Given the description of an element on the screen output the (x, y) to click on. 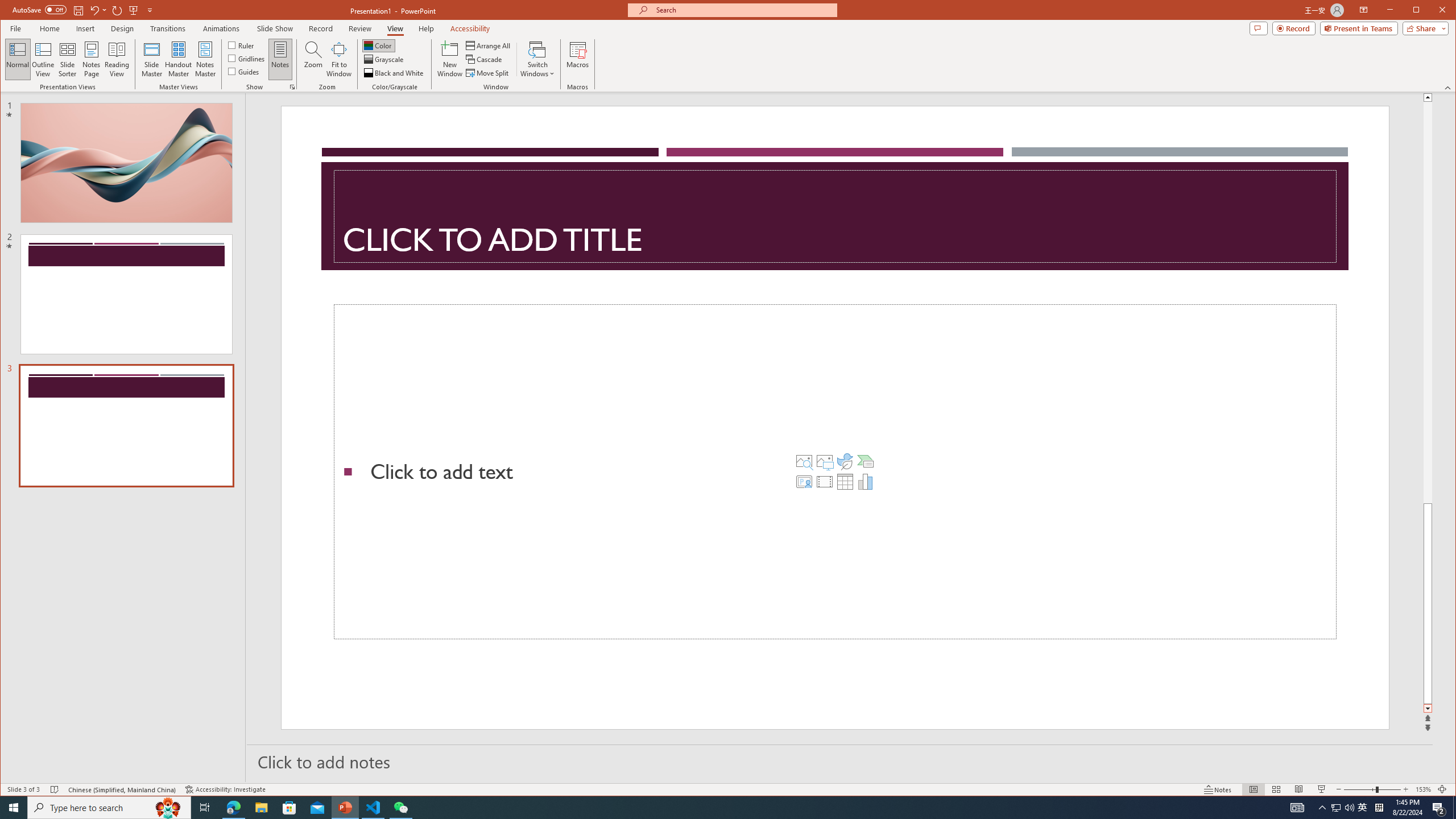
Gridlines (246, 57)
Fit to Window (338, 59)
Insert Cameo (803, 481)
Insert an Icon (844, 461)
Grayscale (384, 59)
Insert Chart (865, 481)
